Given the description of an element on the screen output the (x, y) to click on. 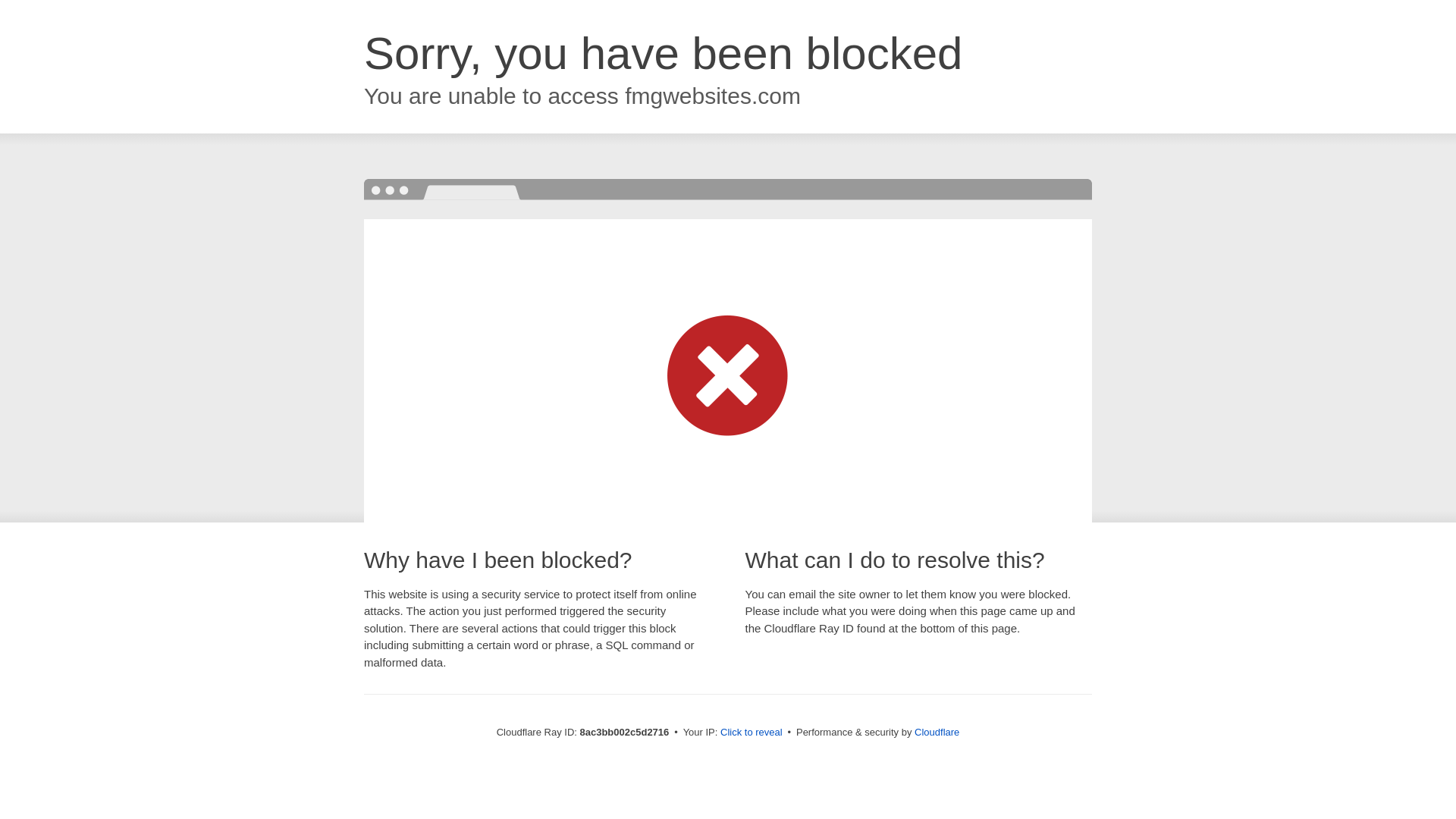
Click to reveal (751, 732)
Cloudflare (936, 731)
